Given the description of an element on the screen output the (x, y) to click on. 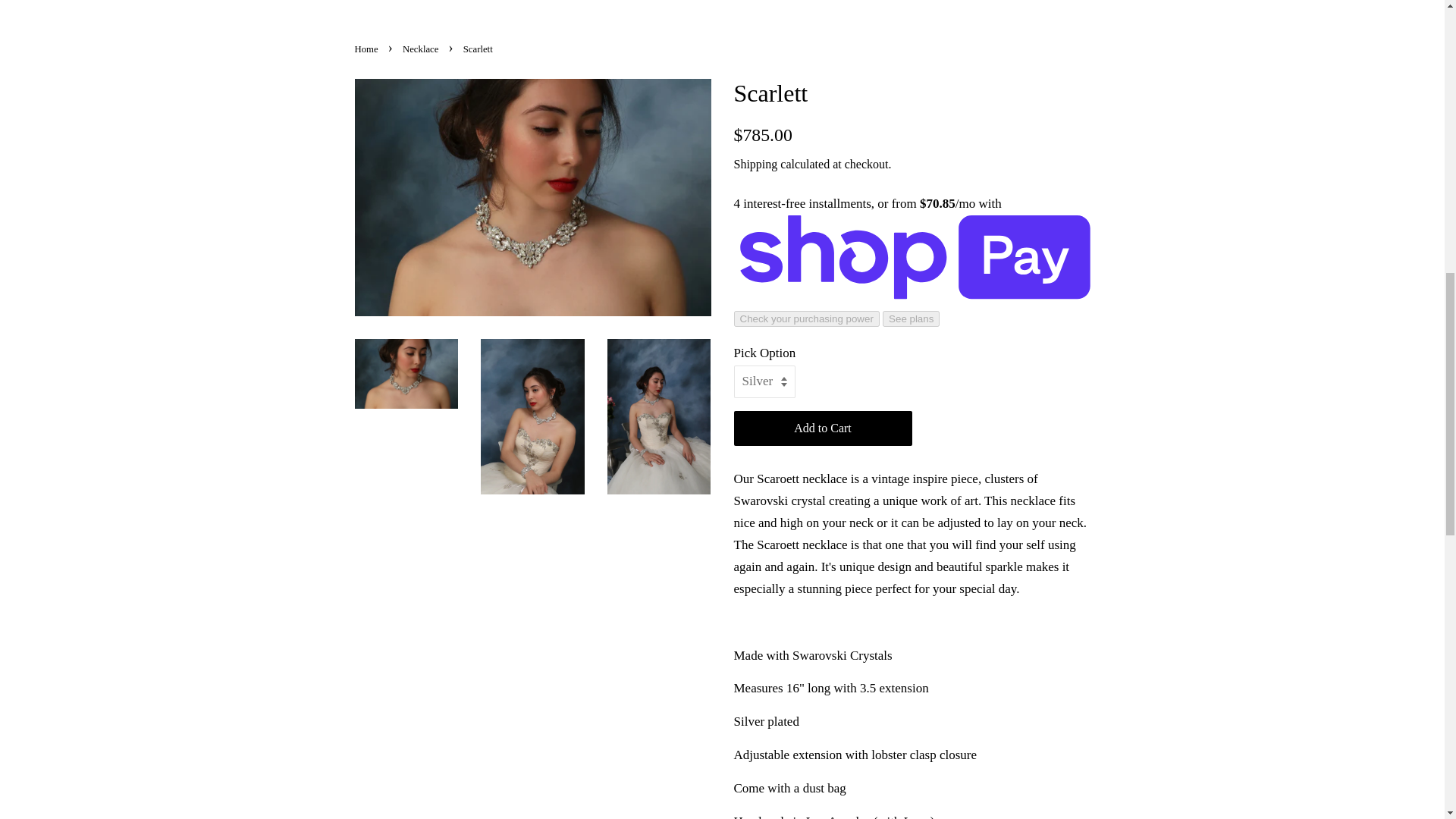
Necklace (422, 49)
Earrings (675, 3)
Necklace (747, 3)
Bracelet (605, 3)
Bridal Wear (998, 3)
Bridal Bikini (915, 3)
Home (368, 49)
Home (432, 3)
Hair Adornments (513, 3)
Add to Cart (822, 428)
Back to the frontpage (368, 49)
Shipping (755, 164)
Bridal Belt (827, 3)
